Given the description of an element on the screen output the (x, y) to click on. 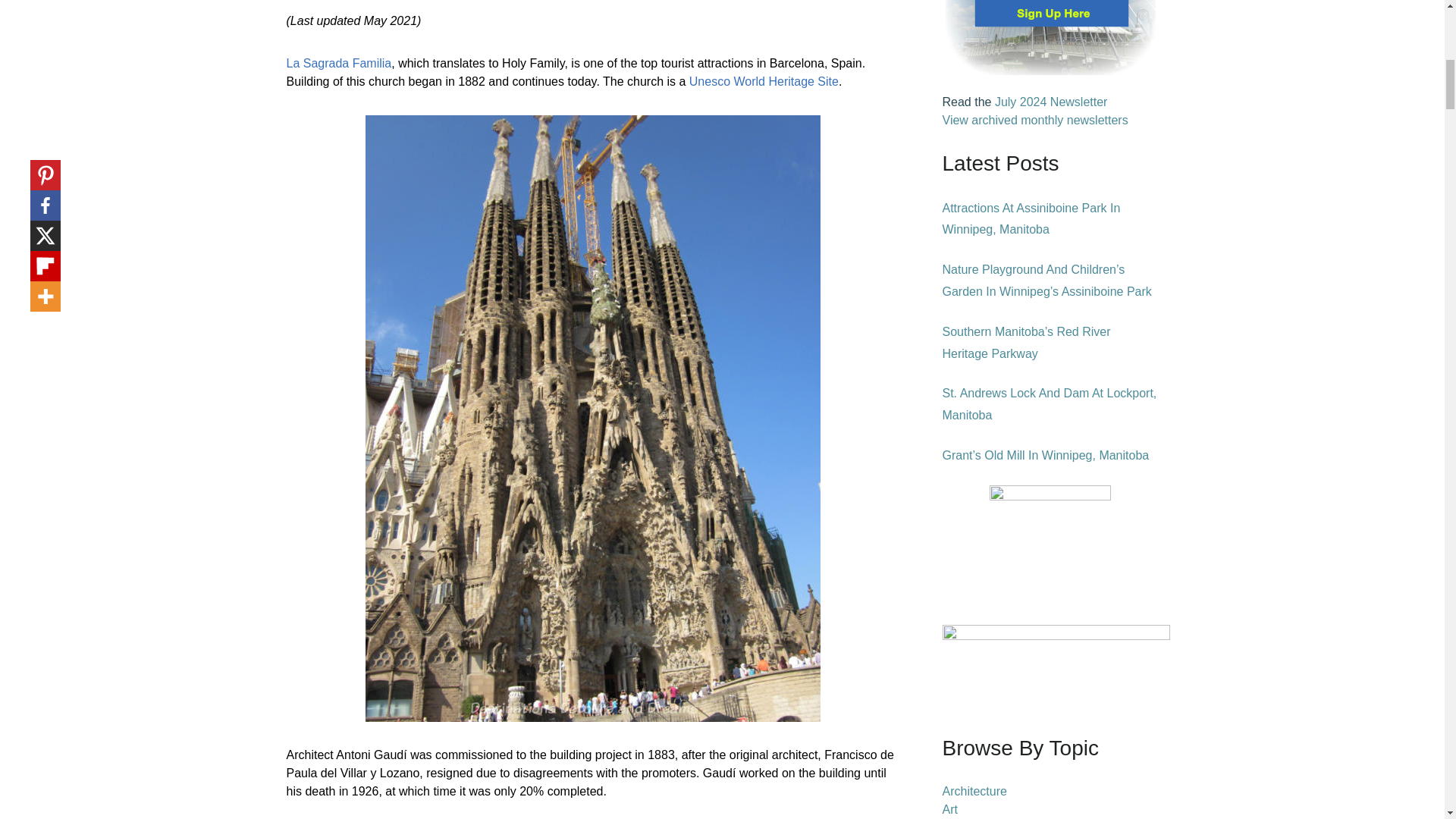
La Sagrada Familia (338, 62)
Unesco World Heritage Site (763, 81)
